Given the description of an element on the screen output the (x, y) to click on. 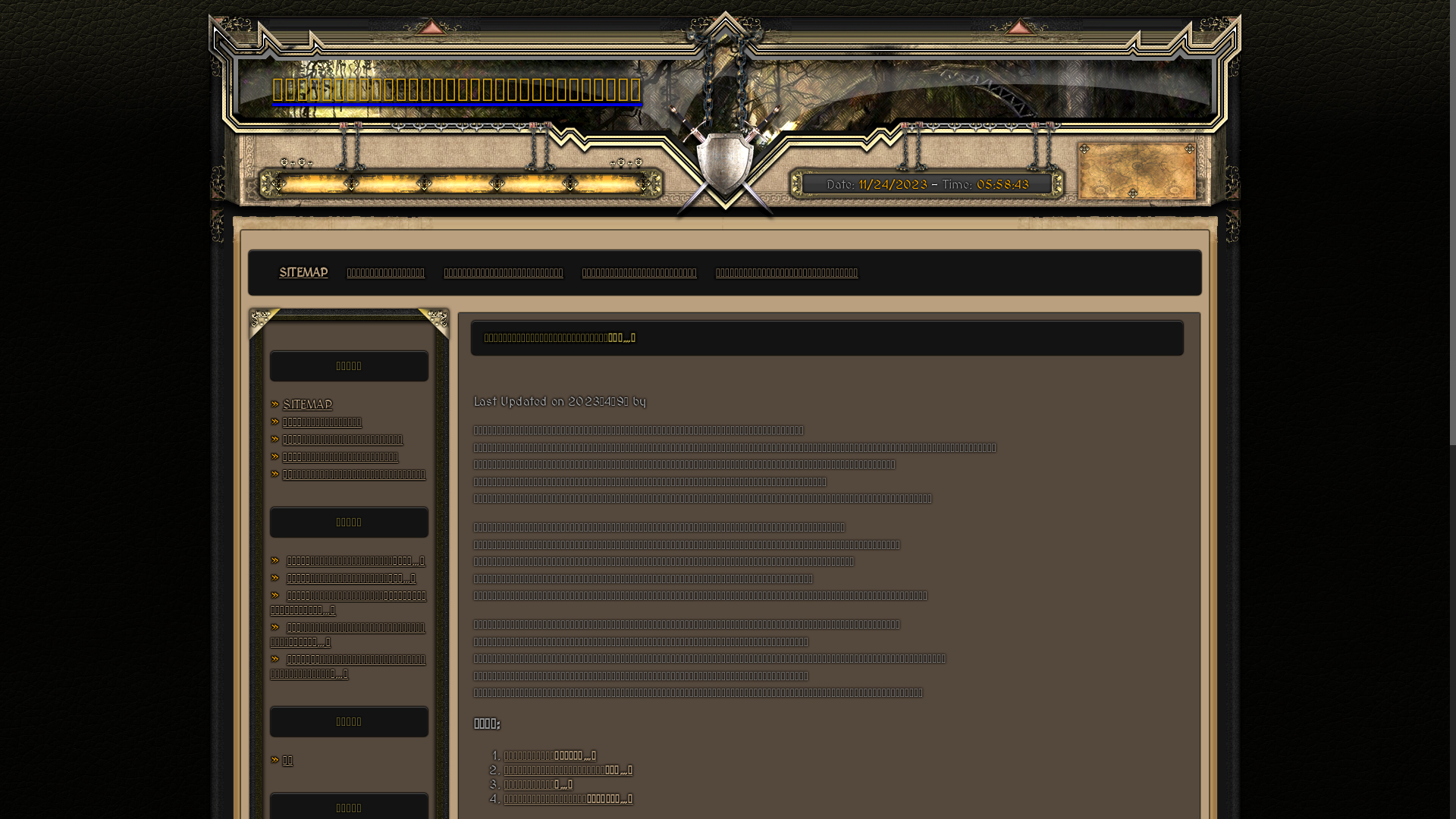
SITEMAP Element type: text (303, 272)
SITEMAP Element type: text (306, 404)
